Given the description of an element on the screen output the (x, y) to click on. 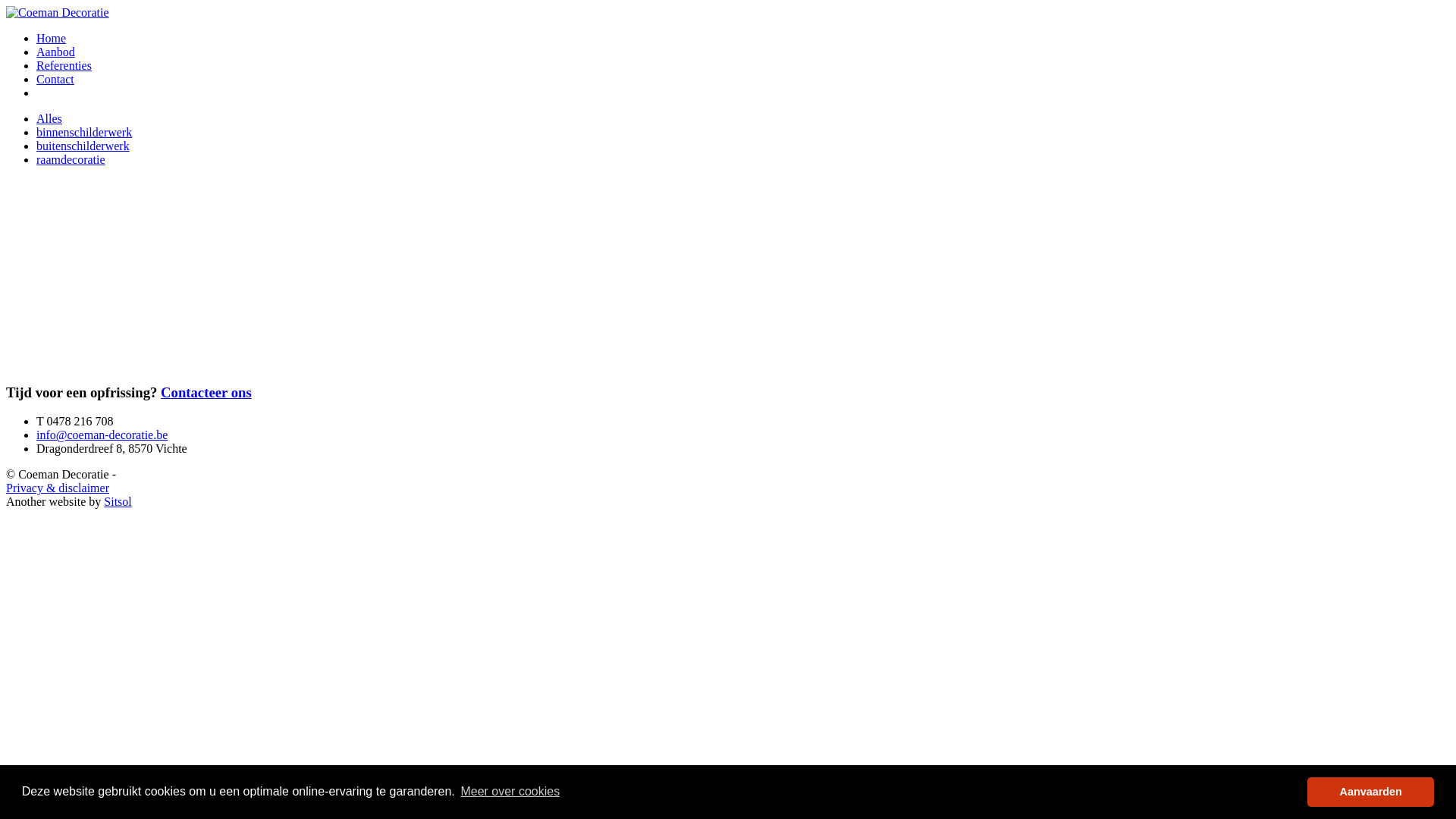
Meer over cookies Element type: text (509, 791)
Referenties Element type: text (63, 65)
Aanbod Element type: text (55, 51)
binnenschilderwerk Element type: text (83, 131)
raamdecoratie Element type: text (70, 159)
Home Element type: text (50, 37)
Contact Element type: text (55, 78)
Privacy & disclaimer Element type: text (57, 487)
Contacteer ons Element type: text (205, 392)
info@coeman-decoratie.be Element type: text (101, 434)
Sitsol Element type: text (117, 501)
Alles Element type: text (49, 118)
buitenschilderwerk Element type: text (82, 145)
Aanvaarden Element type: text (1370, 791)
